Given the description of an element on the screen output the (x, y) to click on. 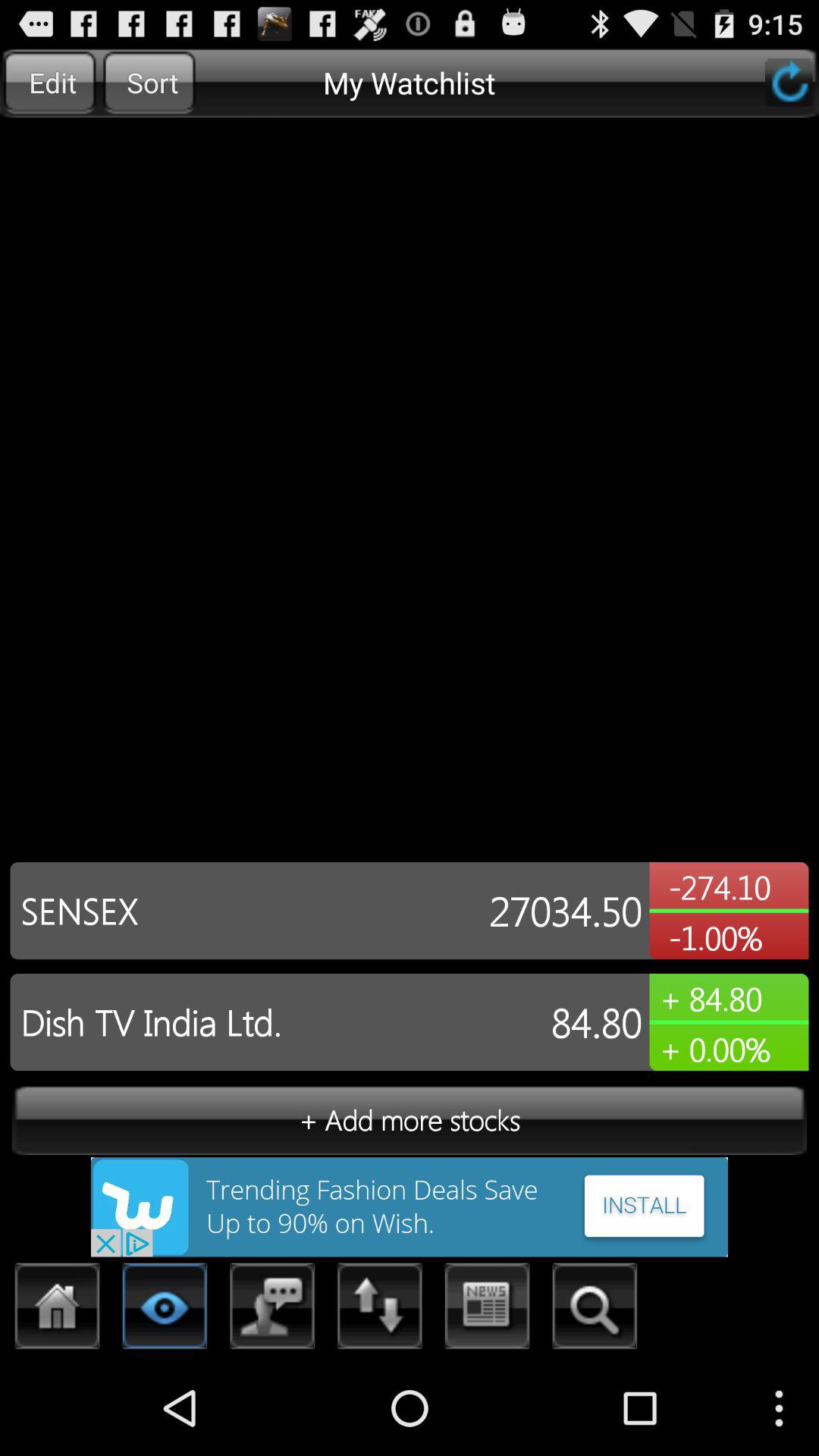
install the advertisement (409, 1206)
